Given the description of an element on the screen output the (x, y) to click on. 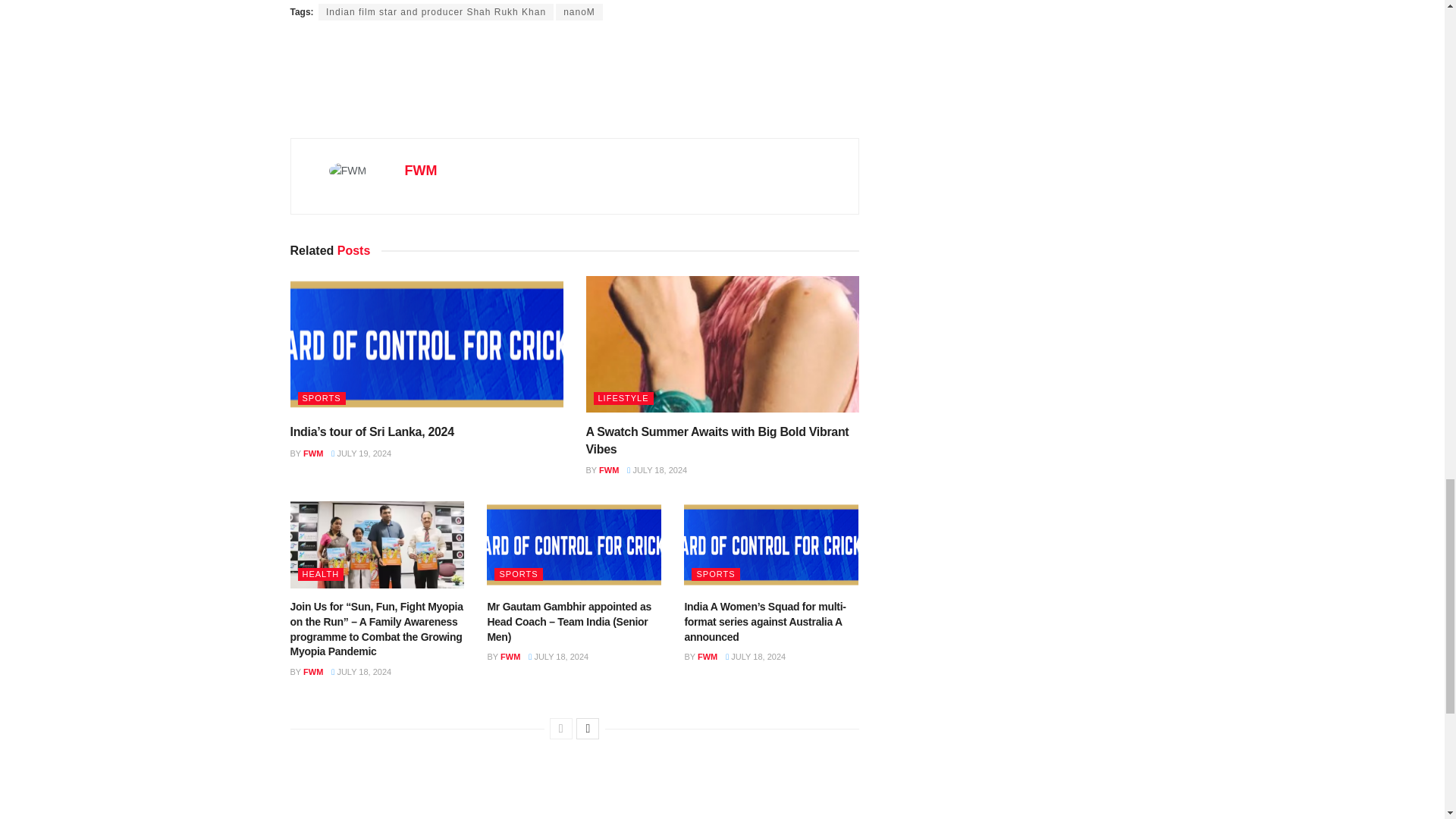
Previous (561, 728)
Next (587, 728)
